Given the description of an element on the screen output the (x, y) to click on. 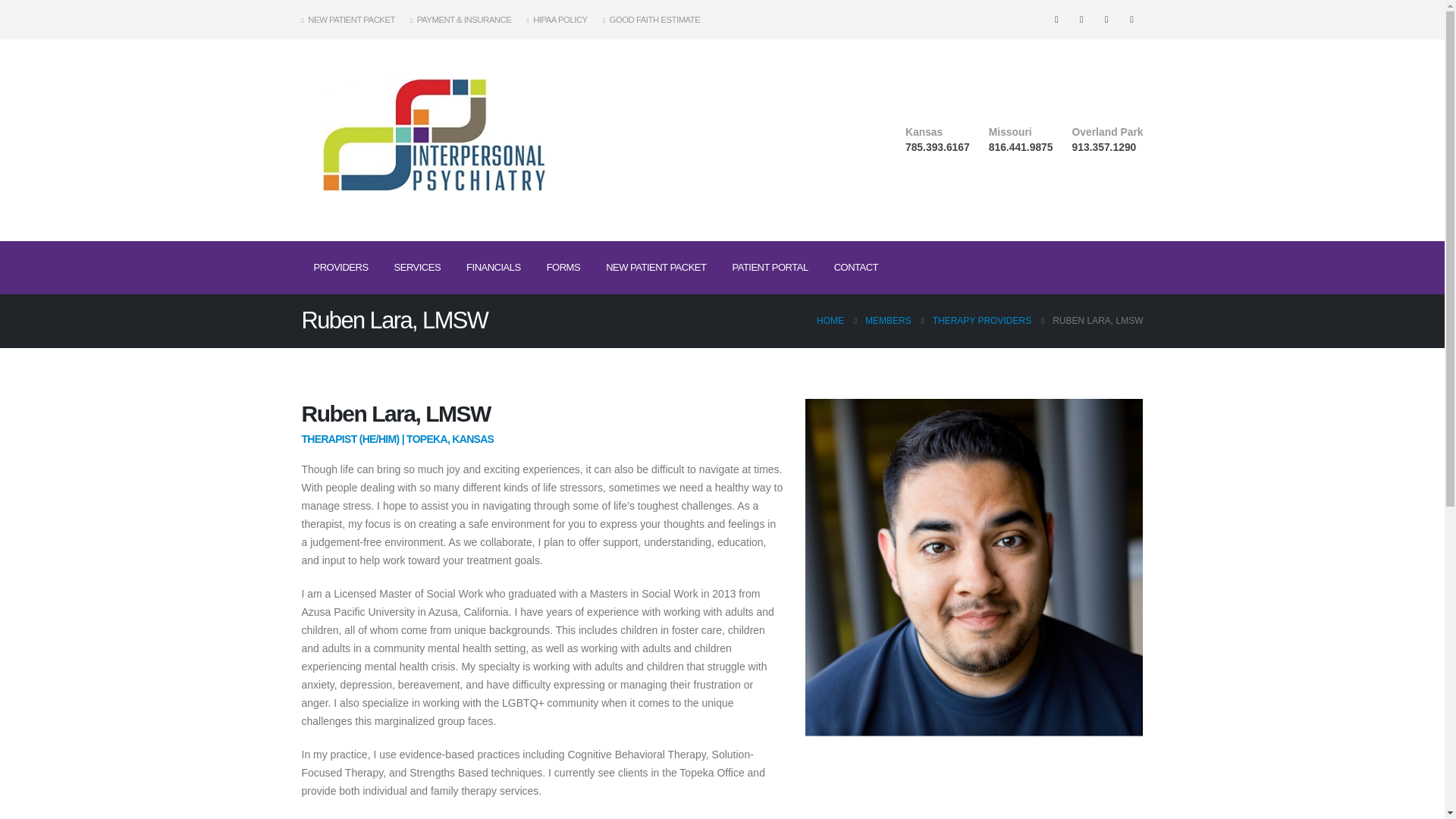
NEW PATIENT PACKET (352, 19)
SERVICES (416, 267)
Youtube (1081, 19)
Instagram (1106, 19)
LinkedIn (1131, 19)
GOOD FAITH ESTIMATE (651, 19)
HIPAA POLICY (556, 19)
Go to Home Page (830, 321)
PROVIDERS (340, 267)
816.441.9875 (1020, 146)
Facebook (1056, 19)
913.357.1290 (1104, 146)
FINANCIALS (493, 267)
785.393.6167 (937, 146)
